Given the description of an element on the screen output the (x, y) to click on. 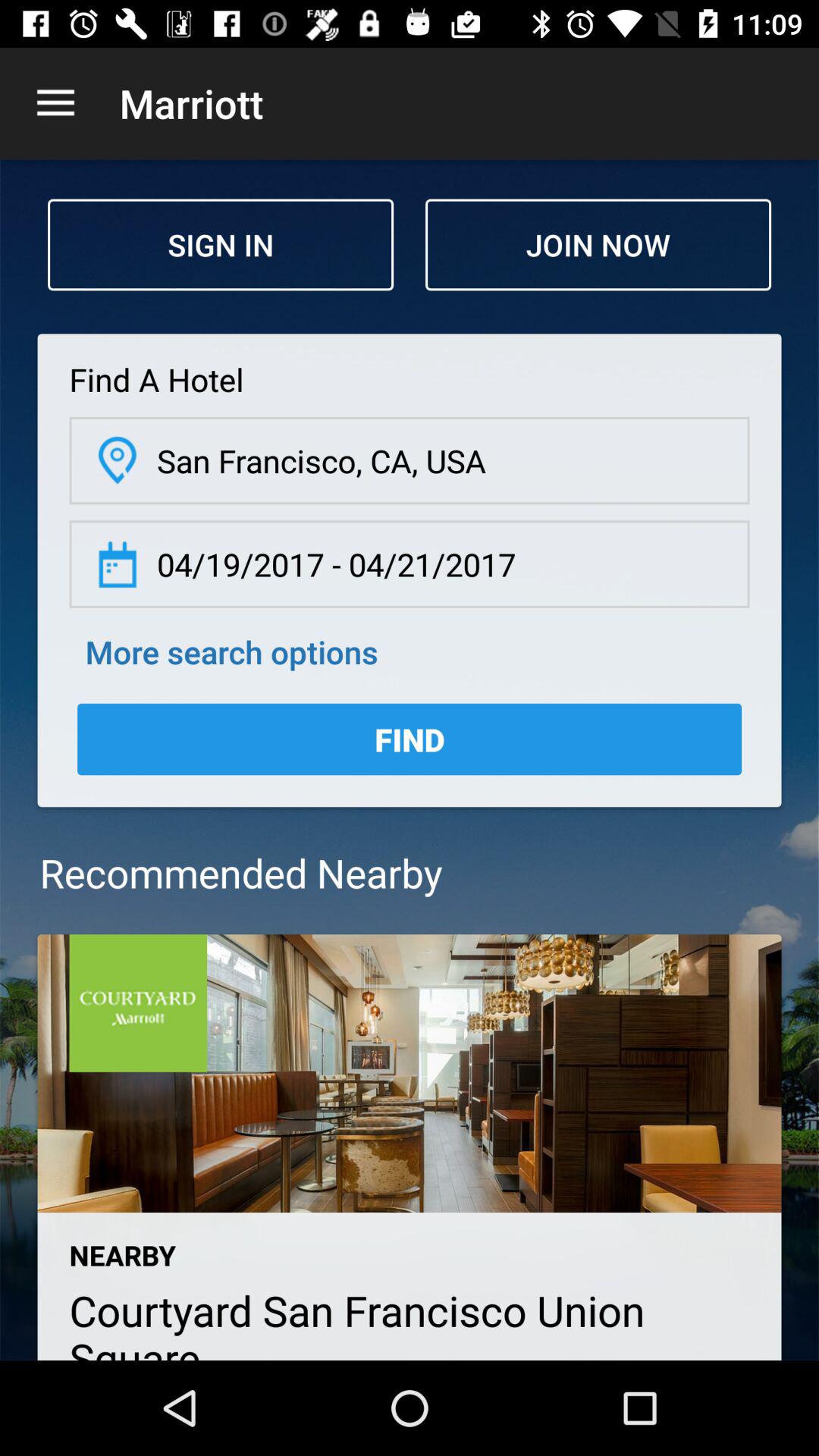
click join now item (598, 244)
